Given the description of an element on the screen output the (x, y) to click on. 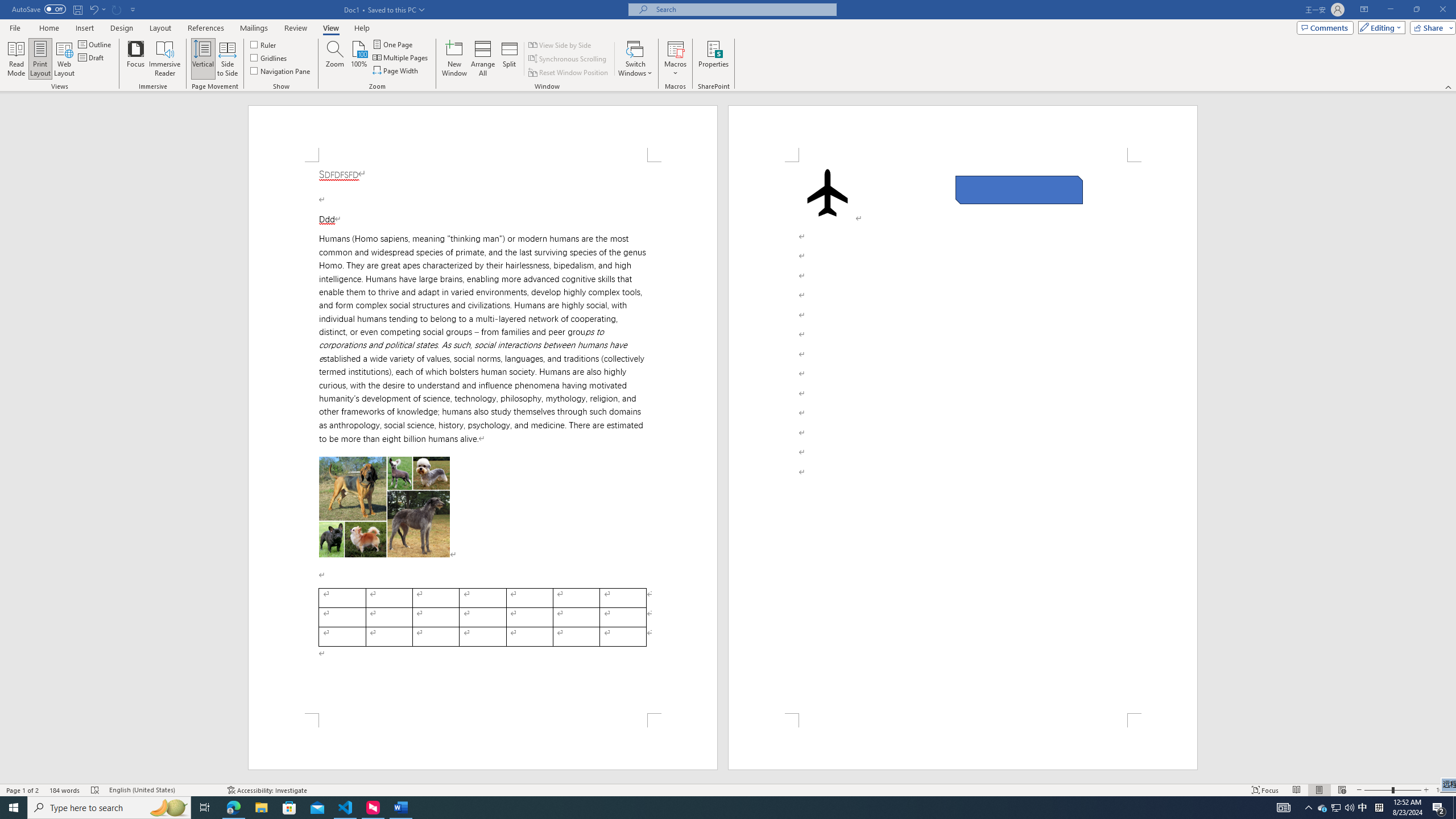
Immersive Reader (165, 58)
Review (295, 28)
Customize Quick Access Toolbar (133, 9)
Switch Windows (635, 58)
Insert (83, 28)
Minimize (1390, 9)
View (330, 28)
Web Layout (63, 58)
Close (1442, 9)
Synchronous Scrolling (568, 58)
References (205, 28)
Home (48, 28)
Task View (204, 807)
Search highlights icon opens search home window (167, 807)
Action Center, 2 new notifications (1439, 807)
